Given the description of an element on the screen output the (x, y) to click on. 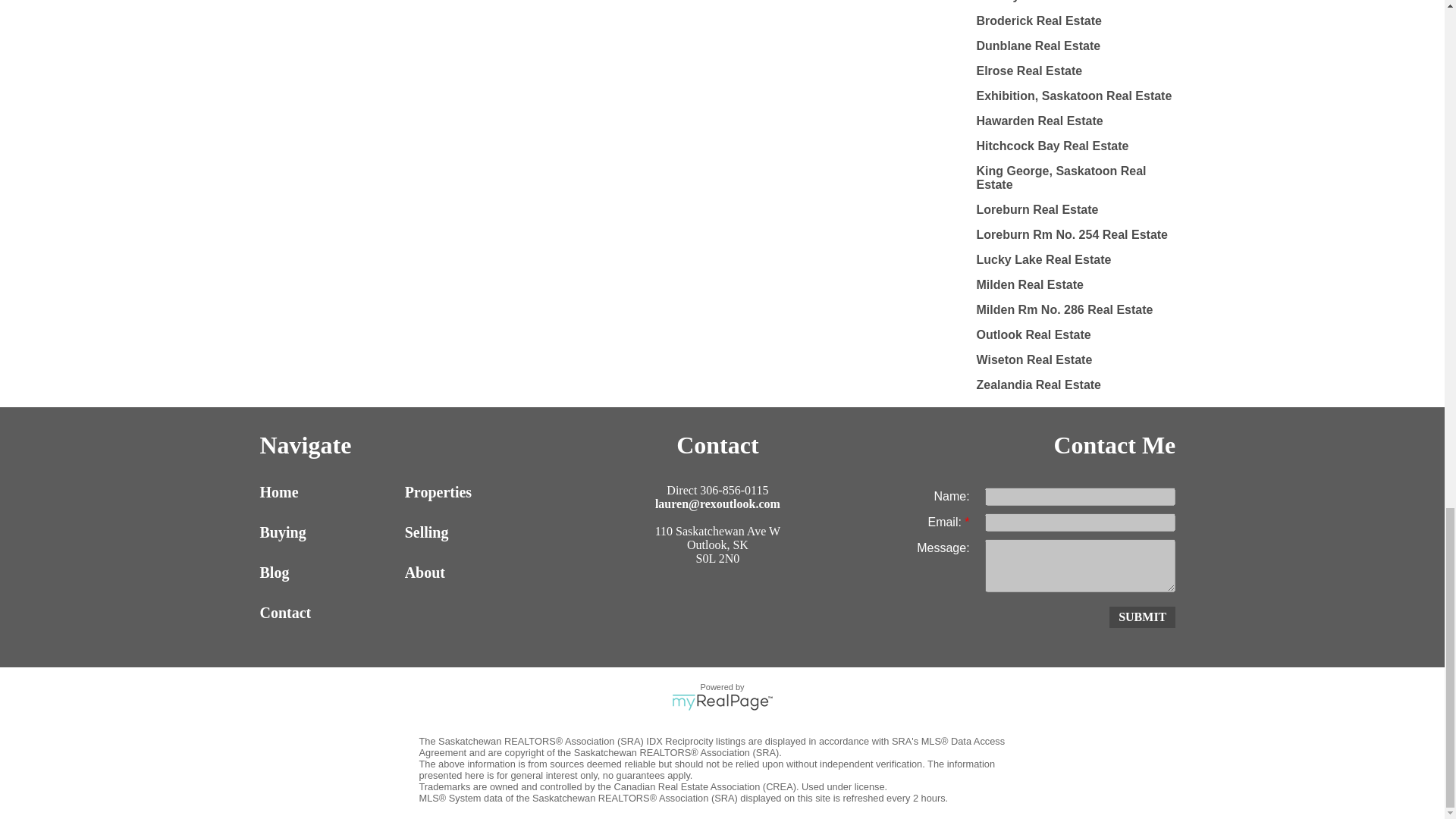
About (472, 572)
Properties (472, 492)
Contact (327, 612)
Selling (472, 532)
Blog (327, 572)
Buying (327, 532)
Home (327, 492)
